Given the description of an element on the screen output the (x, y) to click on. 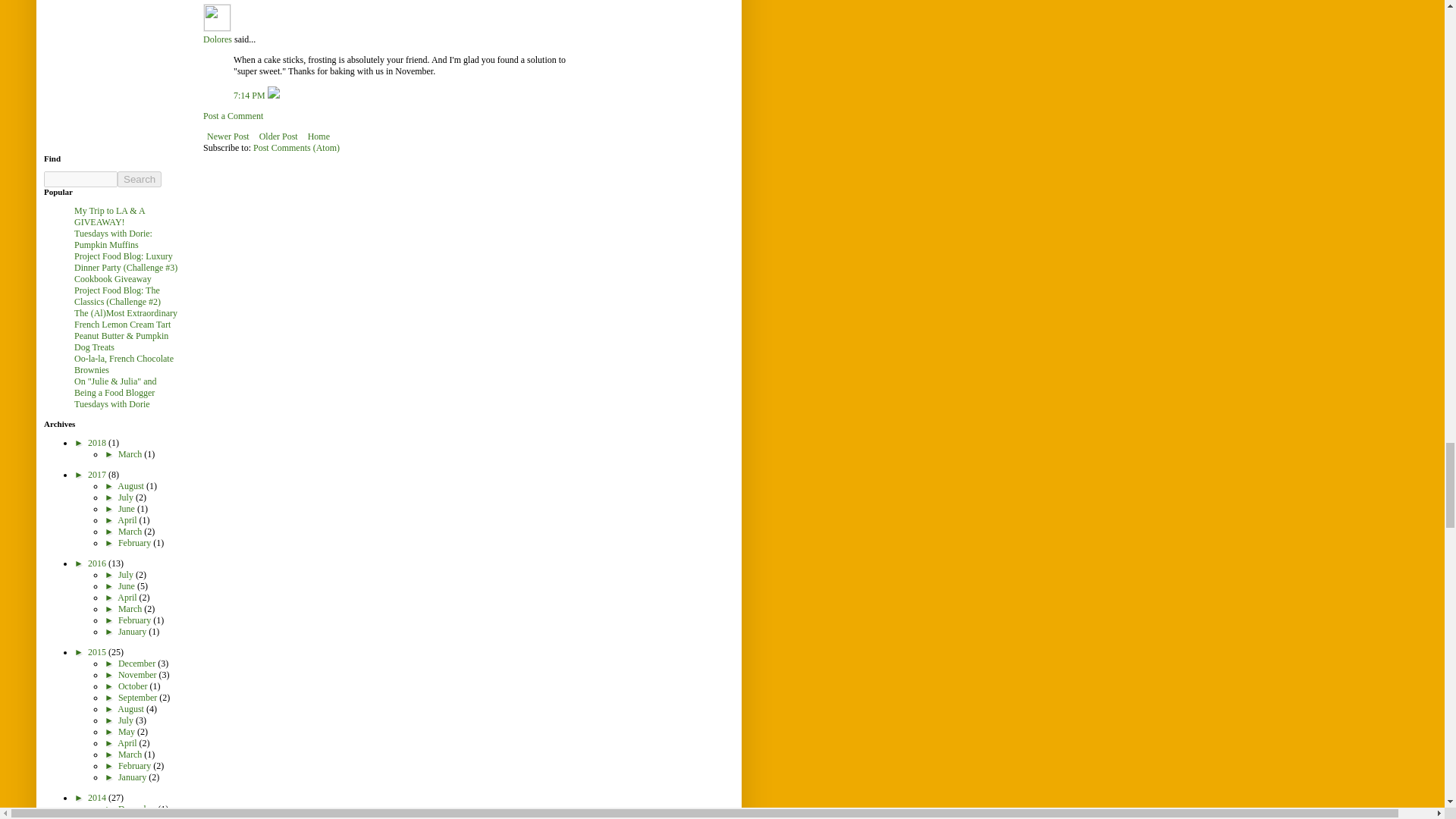
Search (139, 179)
Search (139, 179)
